Given the description of an element on the screen output the (x, y) to click on. 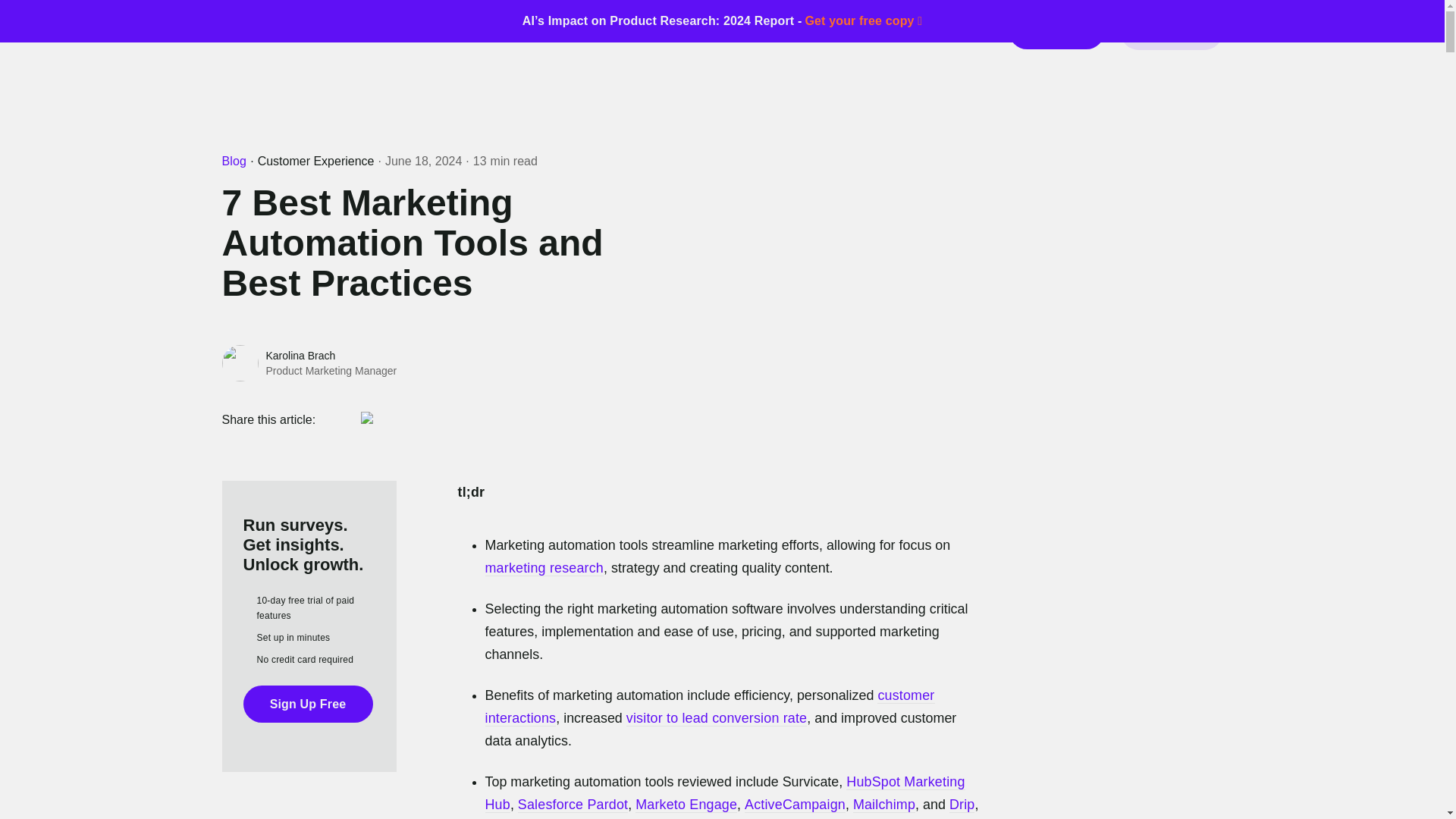
Pricing (633, 30)
